Given the description of an element on the screen output the (x, y) to click on. 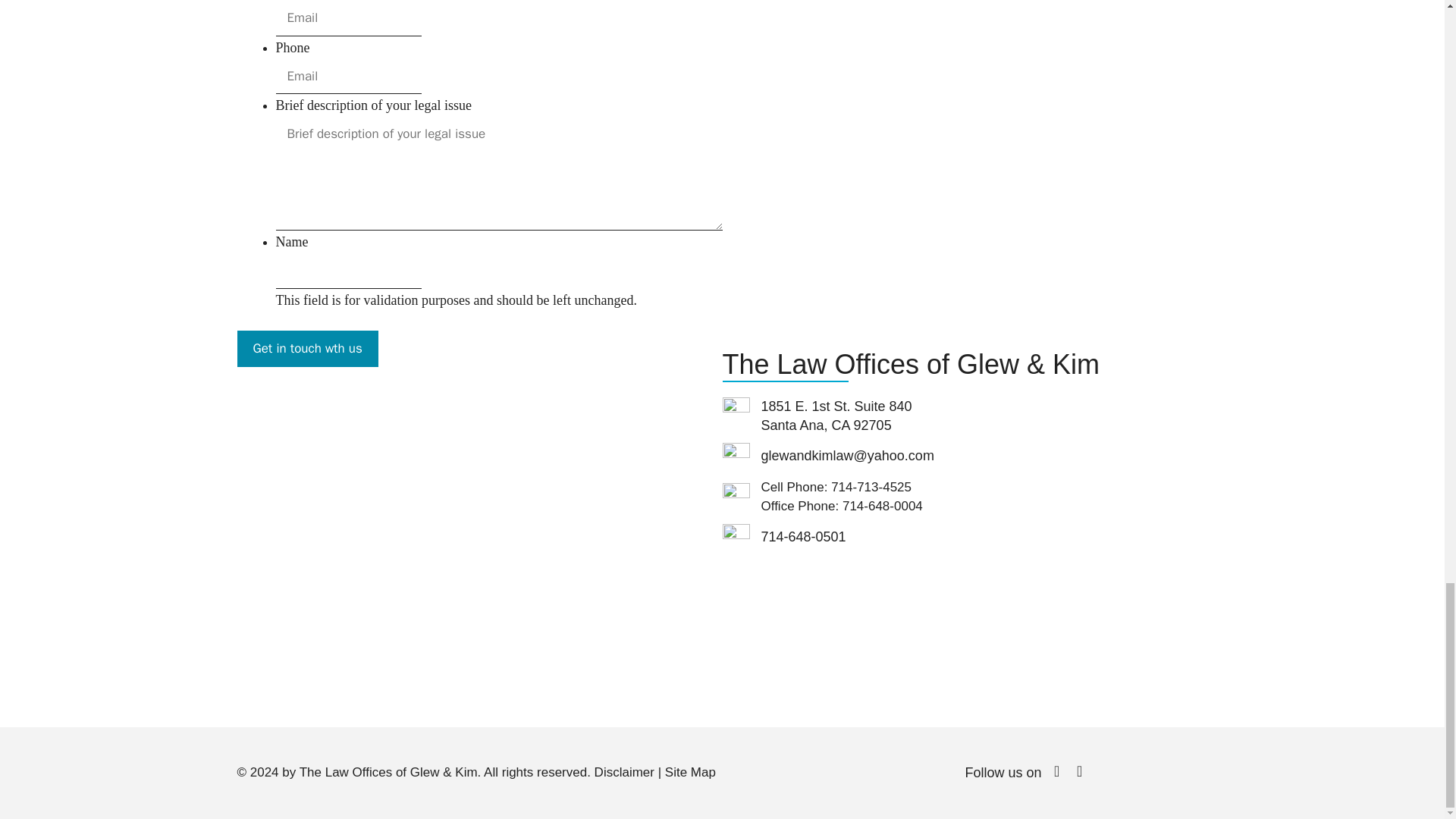
714-713-4525 (871, 486)
Disclaimer (623, 771)
1851 E. 1st St. Suite 840 Santa Ana, CA 92705 (478, 549)
Get in touch wth us (306, 348)
Site Map (690, 771)
Get in touch wth us (306, 348)
714-648-0004 (883, 505)
